Given the description of an element on the screen output the (x, y) to click on. 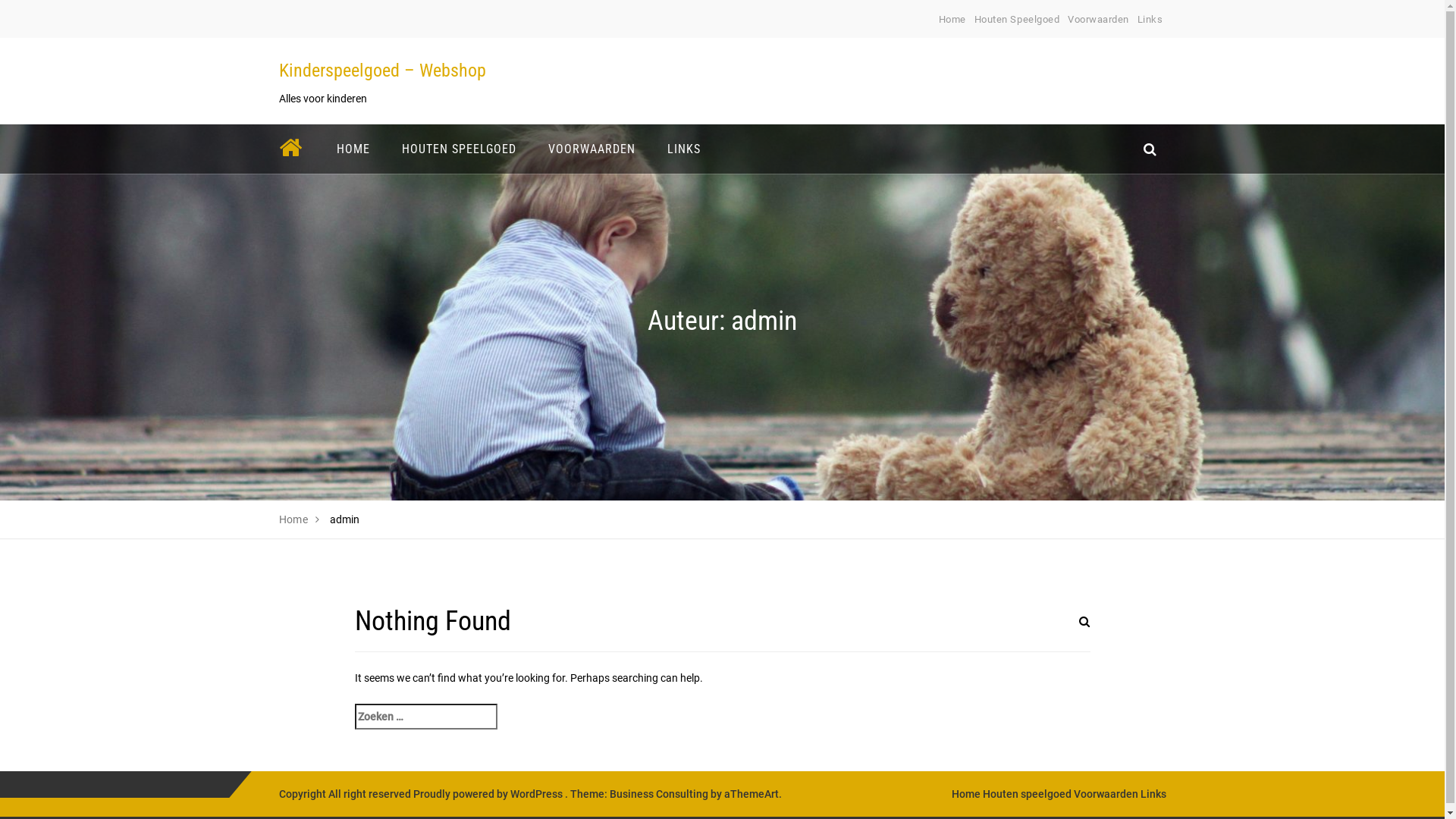
Zoeken Element type: text (1066, 630)
HOME Element type: text (352, 148)
Voorwaarden Element type: text (1105, 793)
HOUTEN SPEELGOED Element type: text (458, 148)
Home Element type: text (952, 19)
Home Element type: text (964, 793)
LINKS Element type: text (682, 148)
search_icon Element type: hover (1148, 148)
Home Element type: text (293, 519)
Voorwaarden Element type: text (1098, 19)
Links Element type: text (1153, 793)
Houten Speelgoed Element type: text (1016, 19)
Links Element type: text (1150, 19)
VOORWAARDEN Element type: text (591, 148)
Proudly powered by WordPress . Element type: text (489, 793)
aThemeArt Element type: text (750, 793)
Houten speelgoed Element type: text (1026, 793)
